Given the description of an element on the screen output the (x, y) to click on. 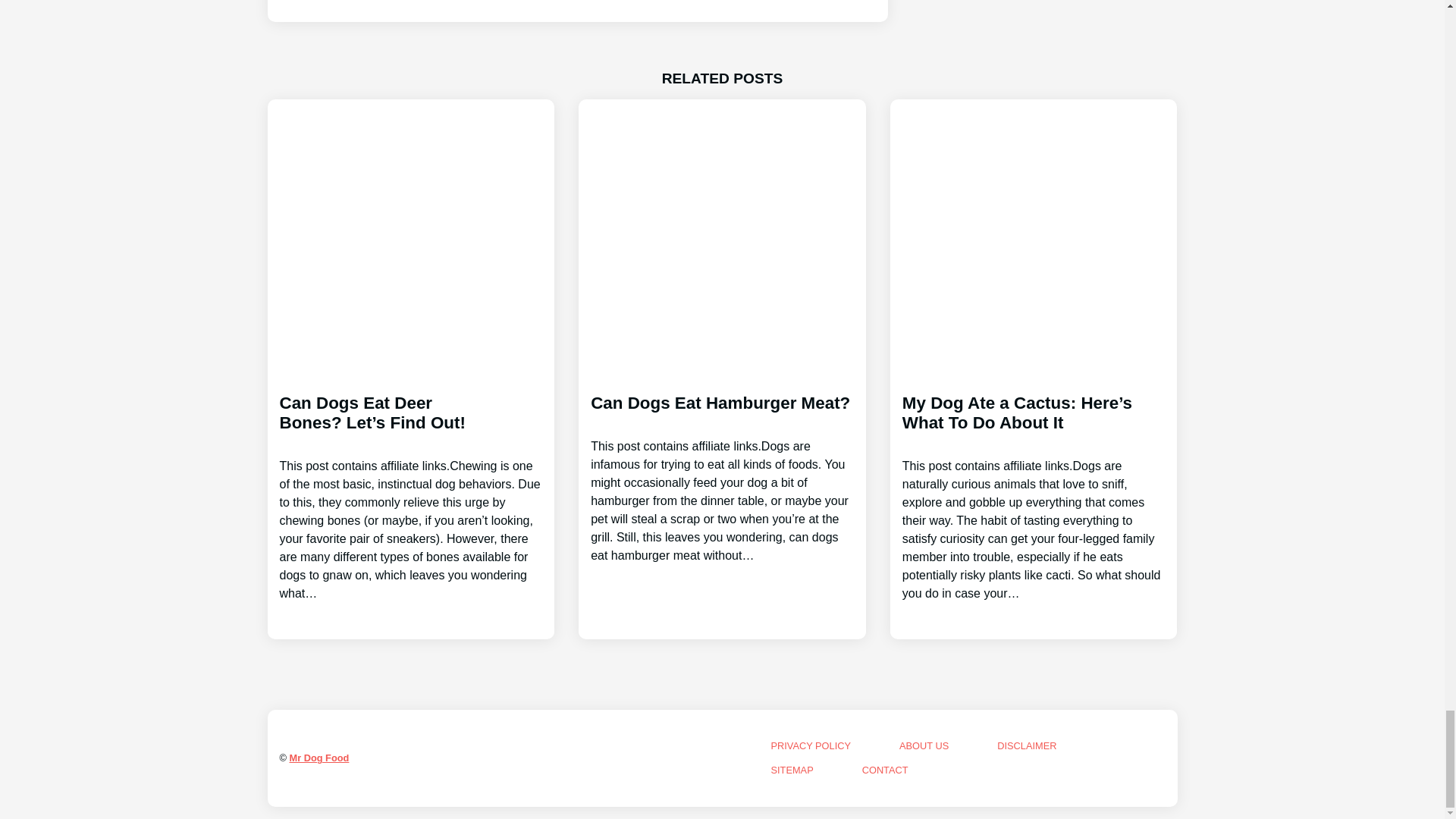
Can Dogs Eat Hamburger Meat? (722, 465)
